Given the description of an element on the screen output the (x, y) to click on. 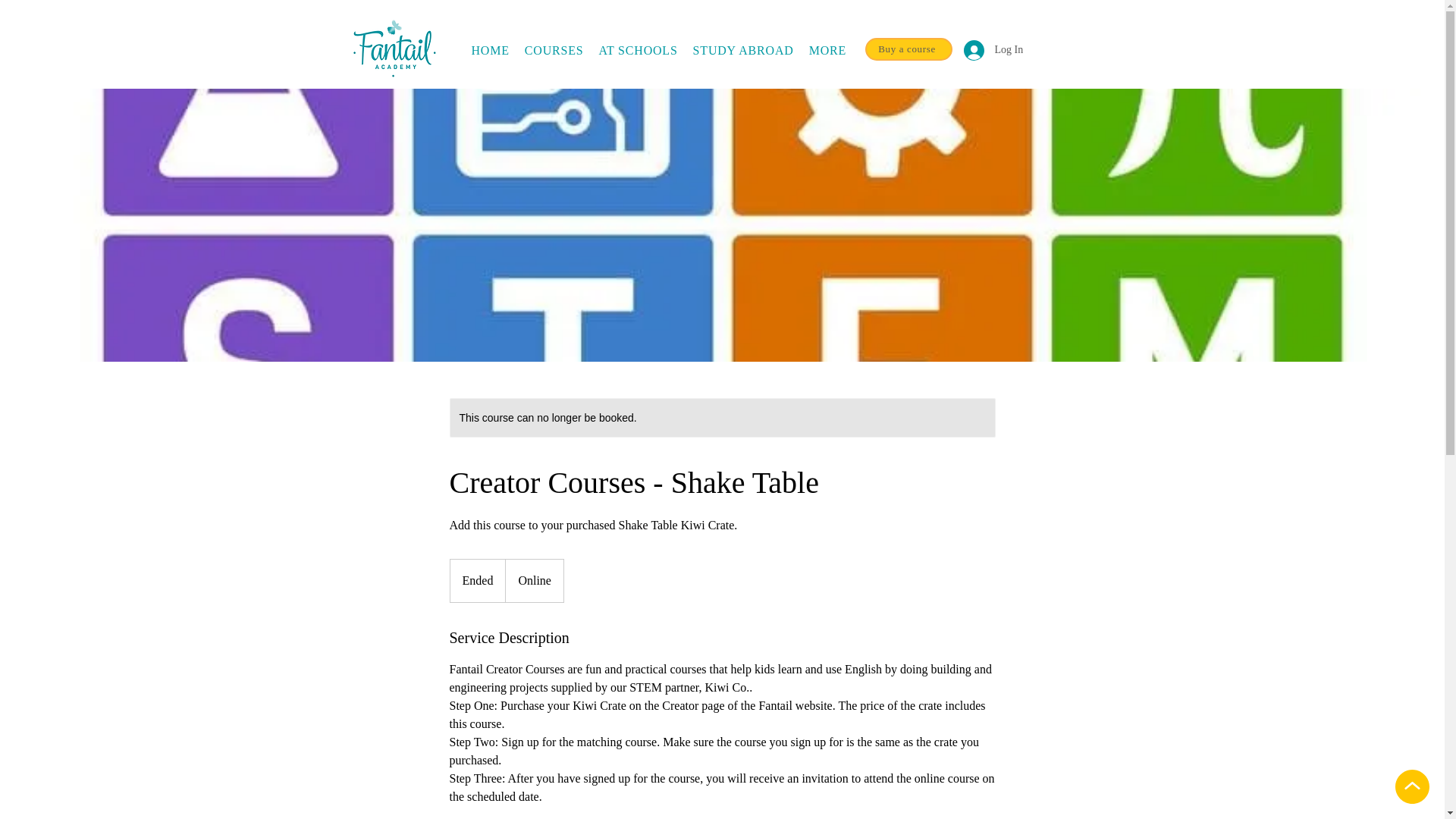
Buy a course (908, 48)
Log In (664, 49)
STUDY ABROAD (984, 49)
AT SCHOOLS (743, 49)
HOME (637, 49)
COURSES (490, 49)
